Given the description of an element on the screen output the (x, y) to click on. 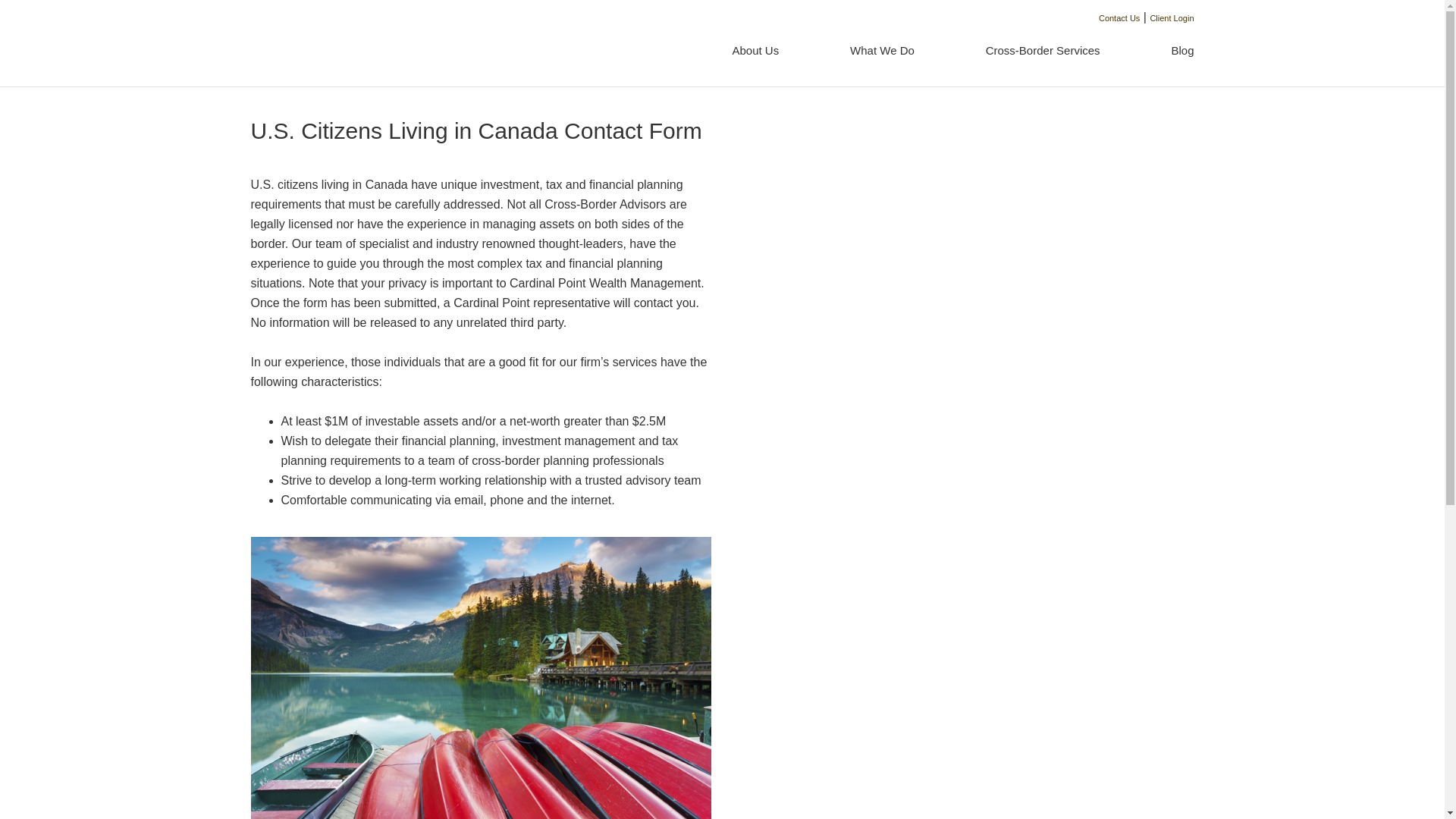
Calm Evening at Emerald Lake (480, 678)
What We Do (882, 51)
Cross-Border Services (1043, 51)
Blog (1165, 51)
About Us (754, 51)
Contact Us (1119, 17)
Client Login (1171, 17)
Cardinal Point Wealth Management (339, 45)
